Given the description of an element on the screen output the (x, y) to click on. 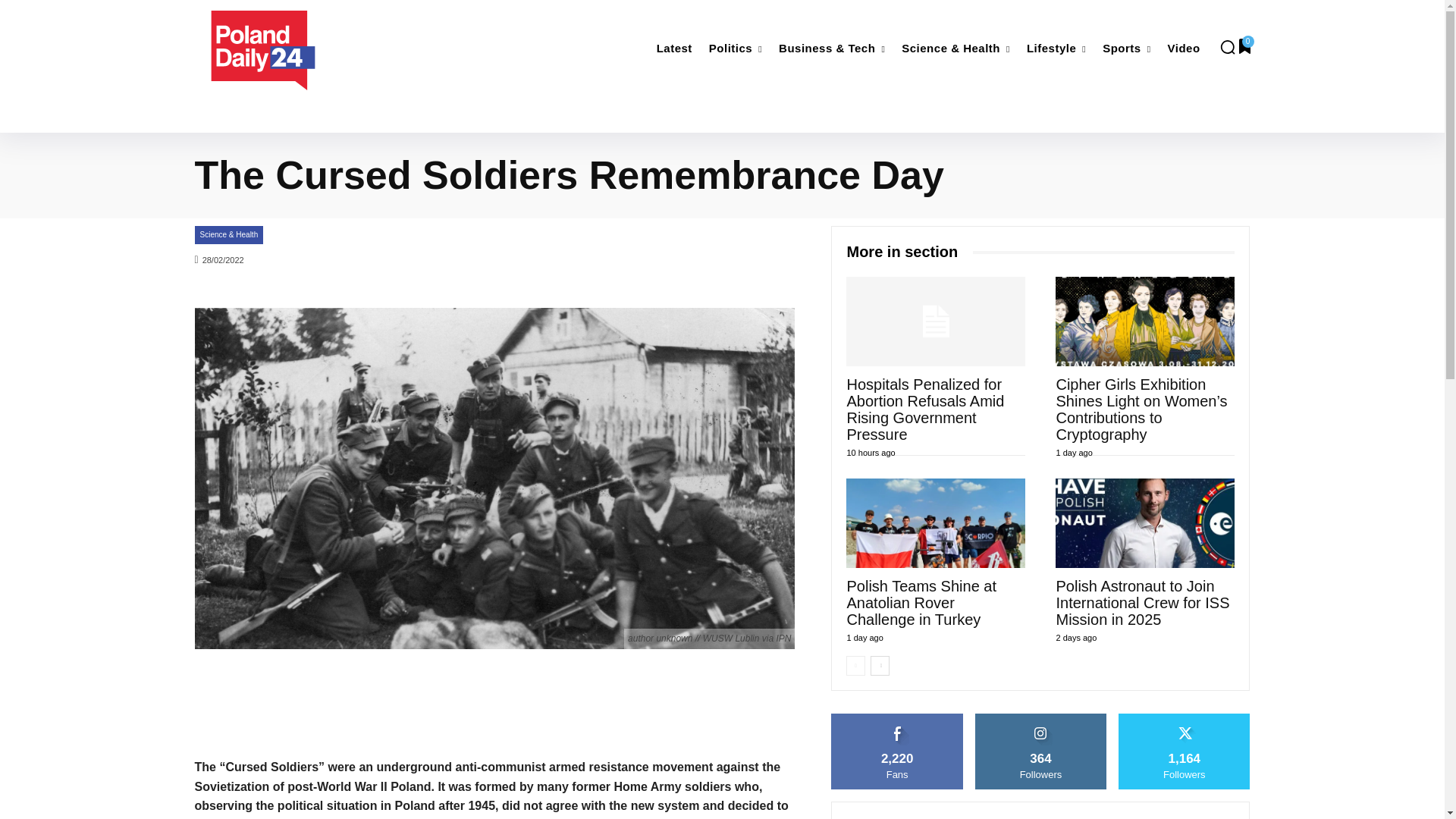
Politics (735, 48)
Latest (674, 48)
